Given the description of an element on the screen output the (x, y) to click on. 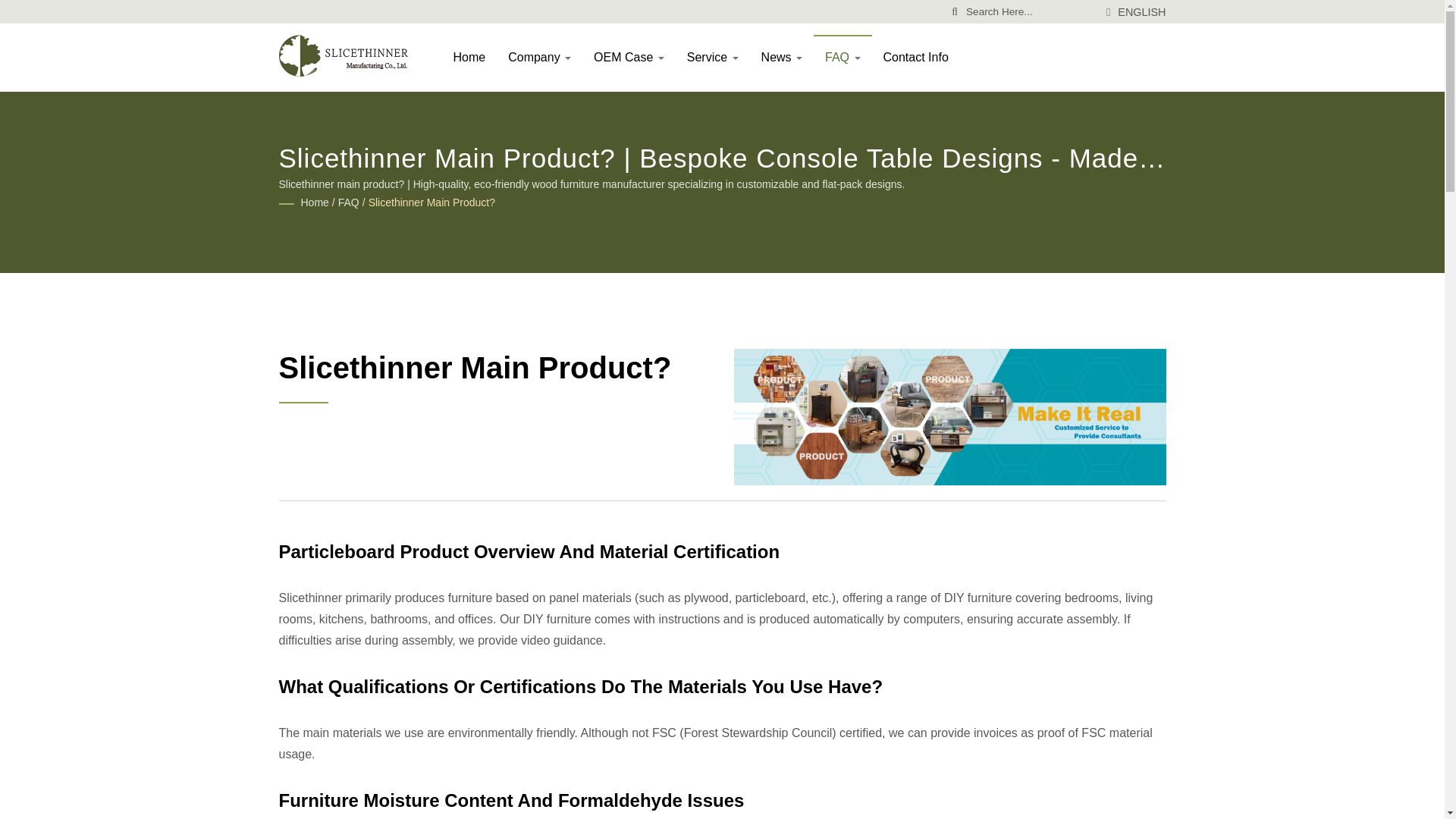
Slicethinner main product? (431, 202)
OEM Case (628, 56)
FAQ (348, 202)
Home (468, 56)
Company (539, 56)
ENGLISH (1142, 11)
Search Here... (1030, 11)
